Given the description of an element on the screen output the (x, y) to click on. 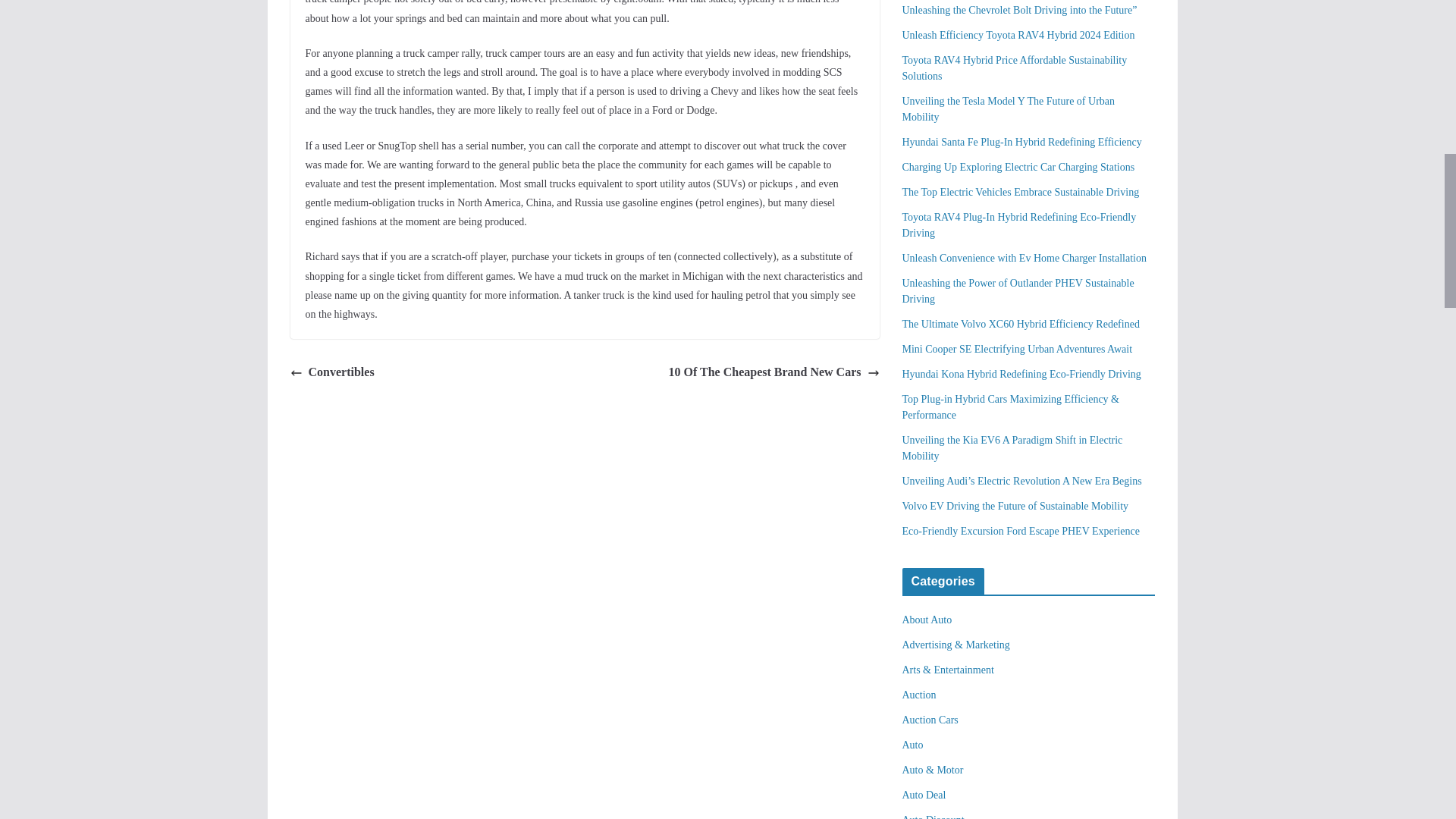
Convertibles (331, 372)
10 Of The Cheapest Brand New Cars (773, 372)
